Given the description of an element on the screen output the (x, y) to click on. 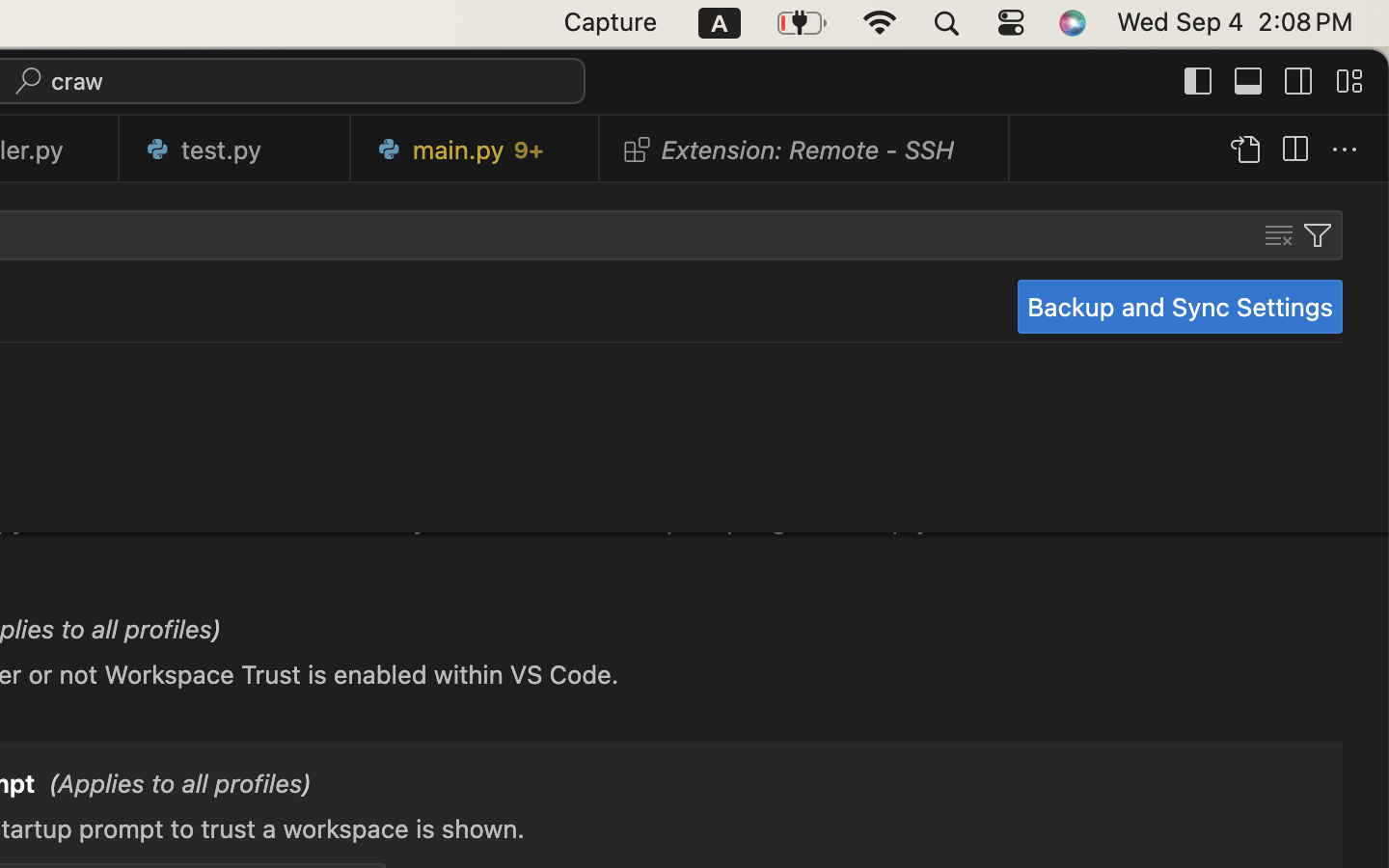
 Element type: AXCheckBox (1248, 80)
 Element type: AXStaticText (1317, 234)
craw Element type: AXStaticText (78, 80)
0 main.py   9+ Element type: AXRadioButton (475, 149)
Applies to all profiles Element type: AXStaticText (174, 440)
